Given the description of an element on the screen output the (x, y) to click on. 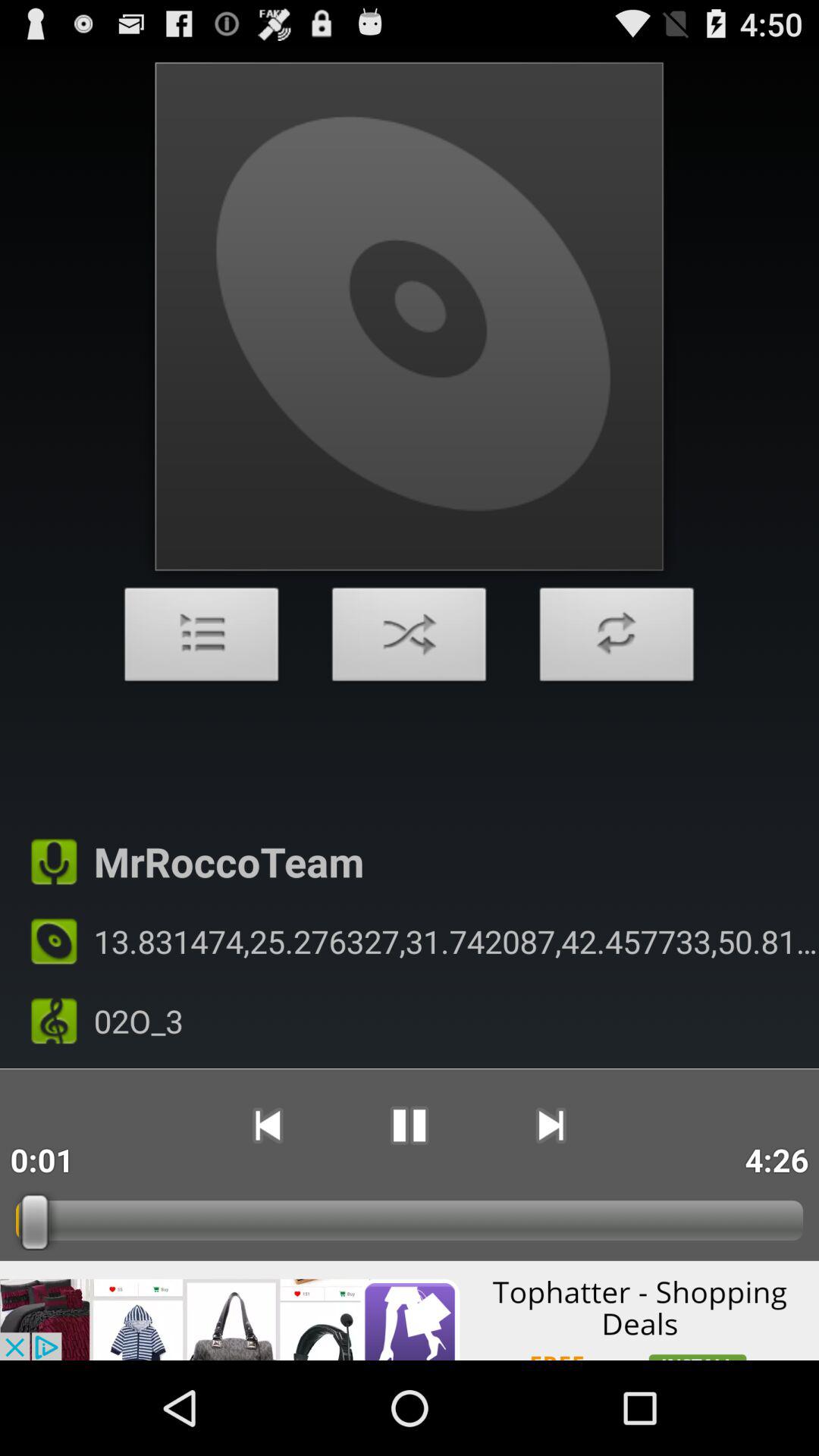
go to advertisement (409, 1310)
